Given the description of an element on the screen output the (x, y) to click on. 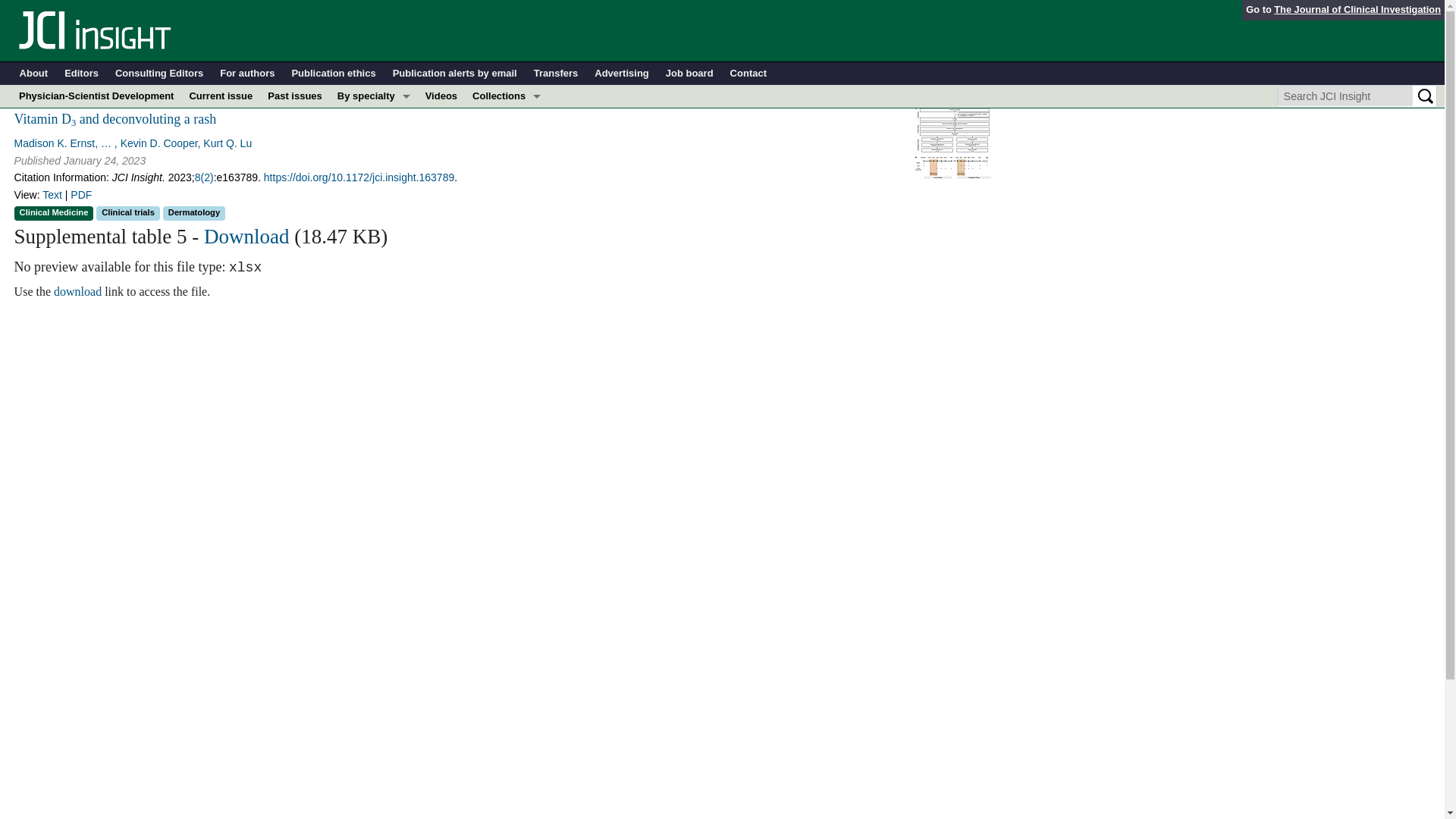
Advertising (621, 73)
Immunology (373, 164)
Reviews (506, 255)
Transfers (556, 73)
Clinical Medicine (506, 164)
Editors (81, 73)
Pulmonology (373, 255)
Past issues (295, 96)
Cardiology (373, 141)
All ... (373, 277)
